Given the description of an element on the screen output the (x, y) to click on. 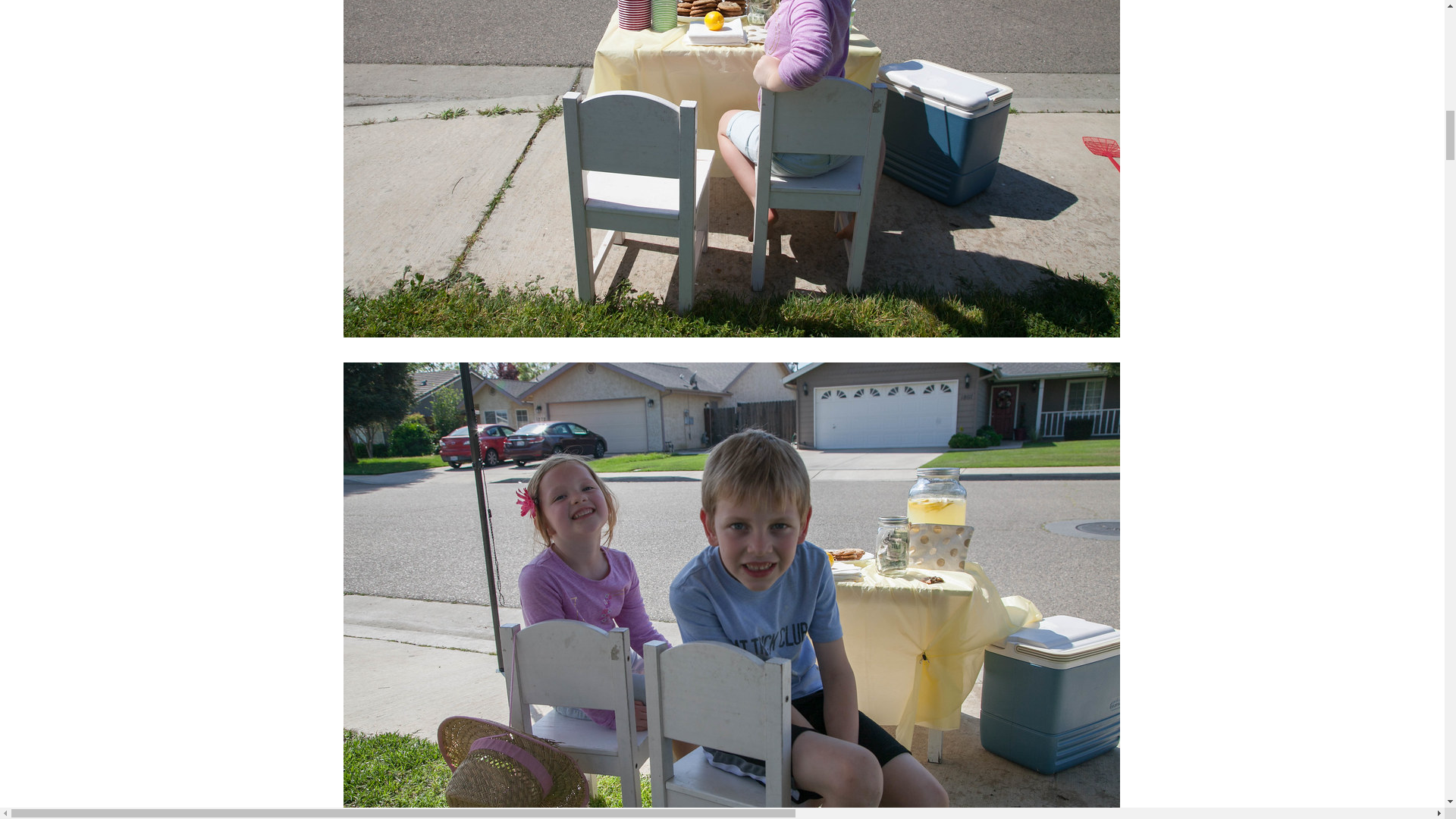
Avery's Lemonade Stand (730, 331)
